Given the description of an element on the screen output the (x, y) to click on. 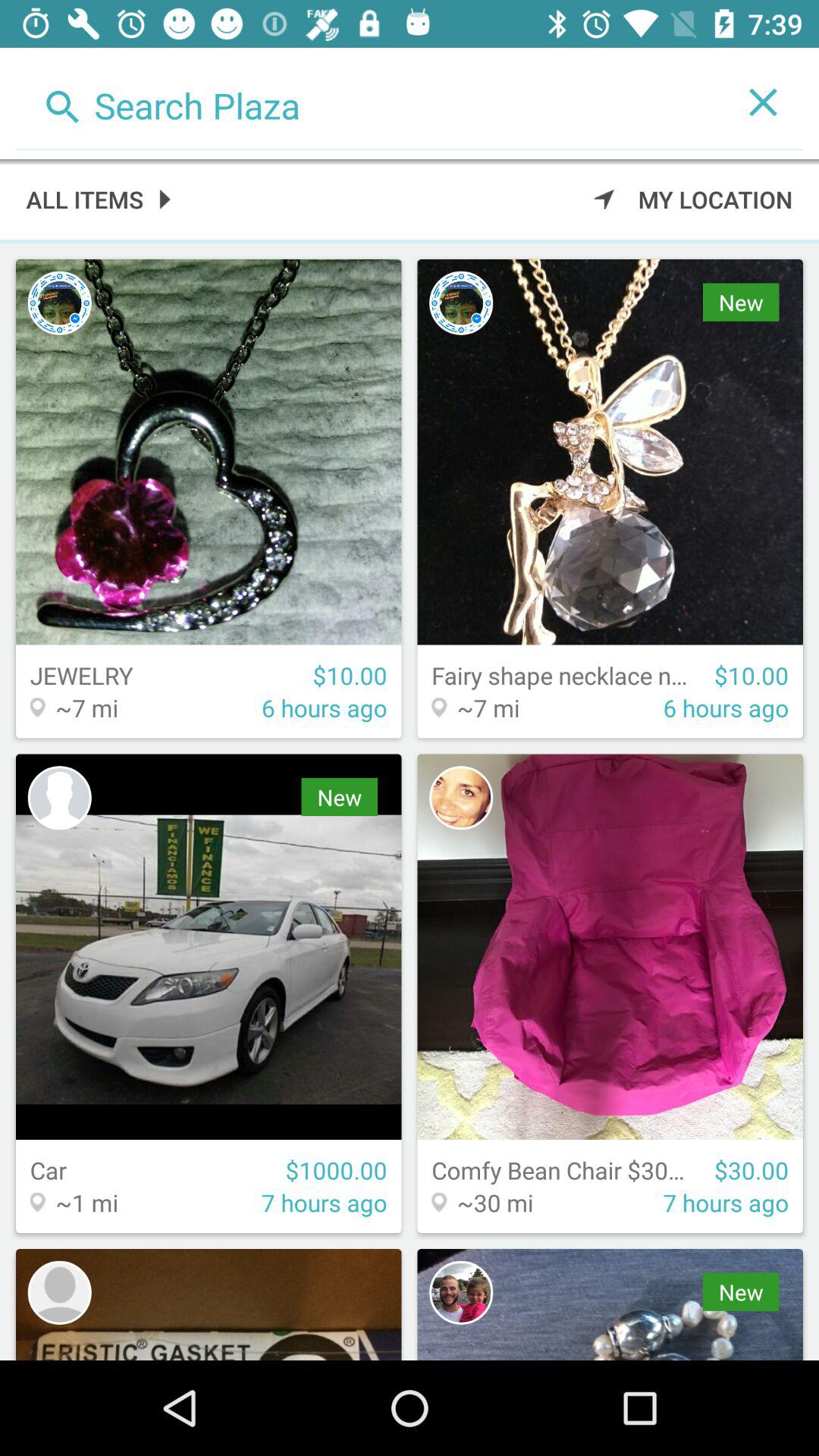
swipe to my location item (693, 199)
